Given the description of an element on the screen output the (x, y) to click on. 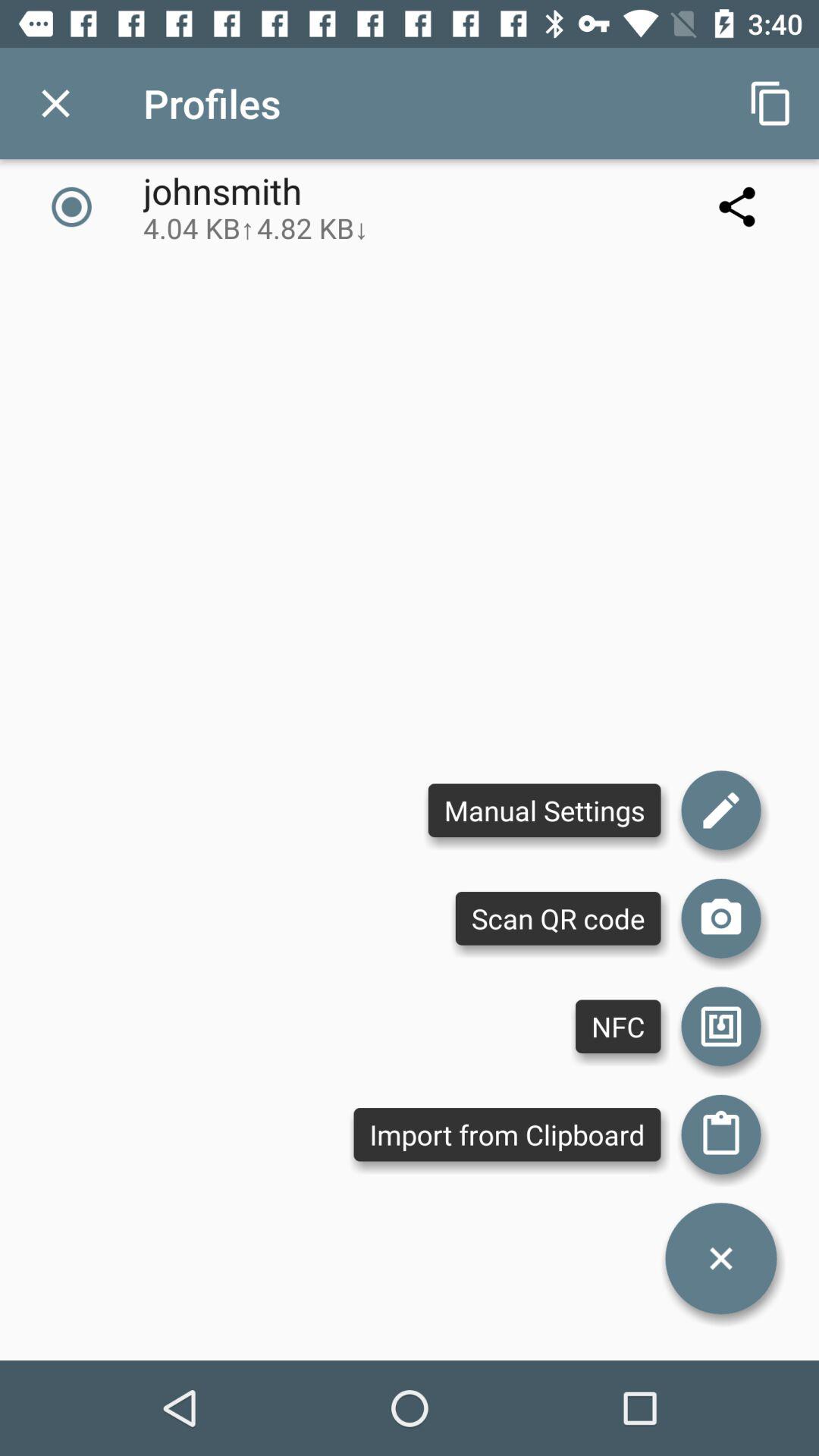
paste from clipboard (721, 1134)
